Given the description of an element on the screen output the (x, y) to click on. 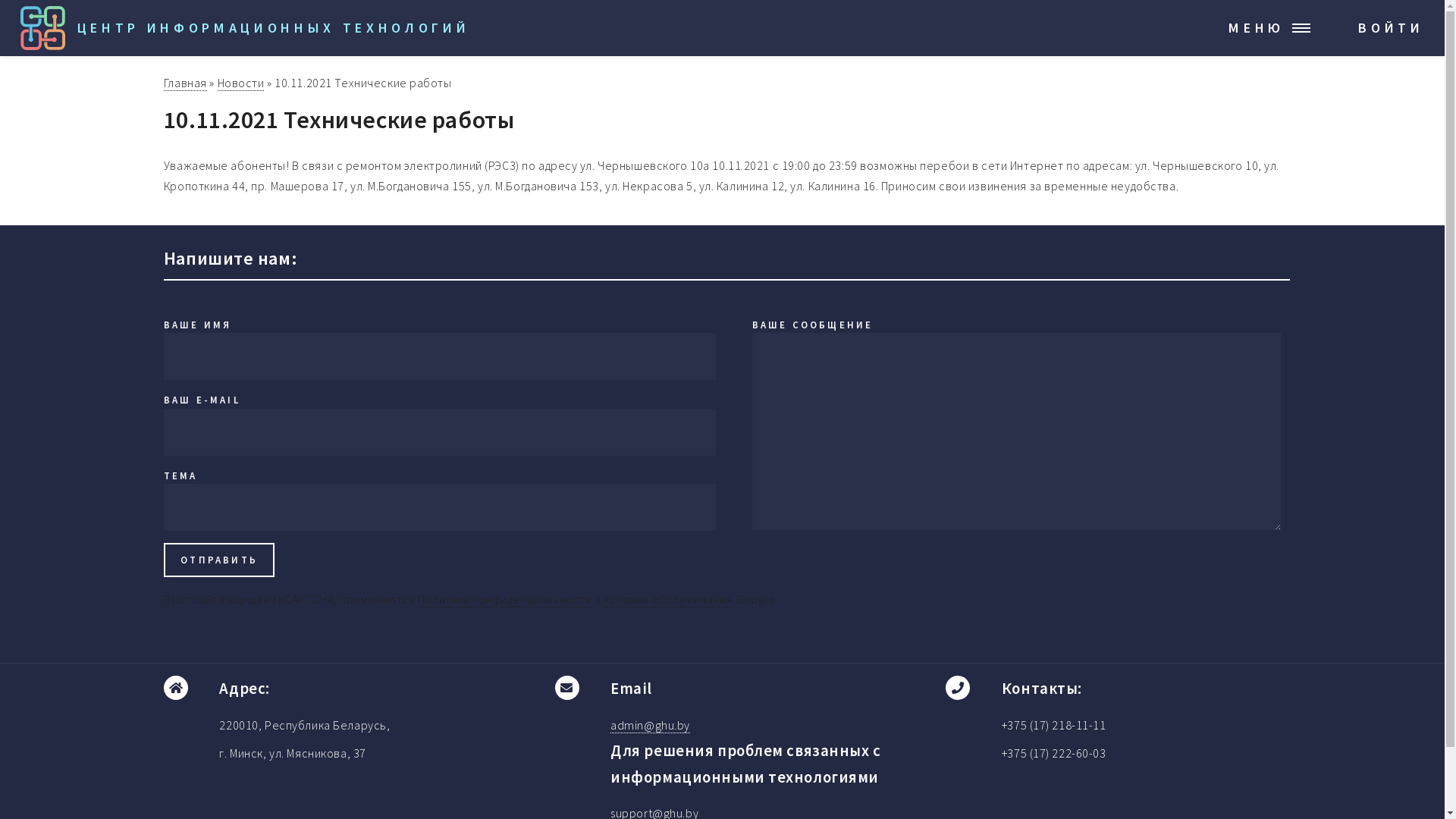
admin@ghu.by Element type: text (650, 725)
